Given the description of an element on the screen output the (x, y) to click on. 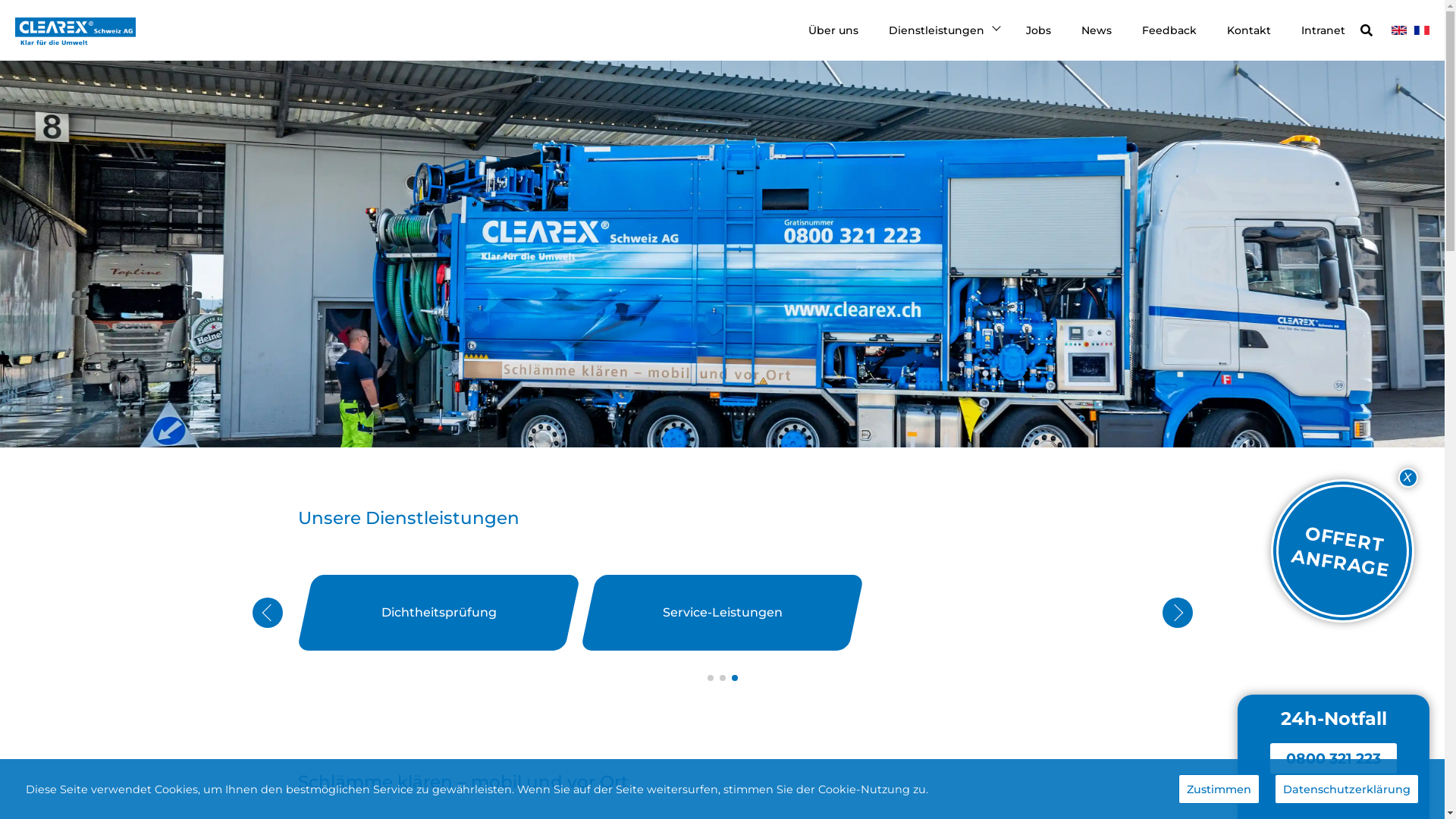
Suchen Element type: text (1402, 40)
0800 321 223 Element type: text (1333, 758)
Jobs Element type: text (1038, 30)
OFFERT
ANFRAGE Element type: text (1331, 539)
News Element type: text (1096, 30)
Intranet Element type: text (1323, 30)
Englisch Element type: hover (1398, 29)
Feedback Element type: text (1169, 30)
Kontakt Element type: text (1248, 30)
